Given the description of an element on the screen output the (x, y) to click on. 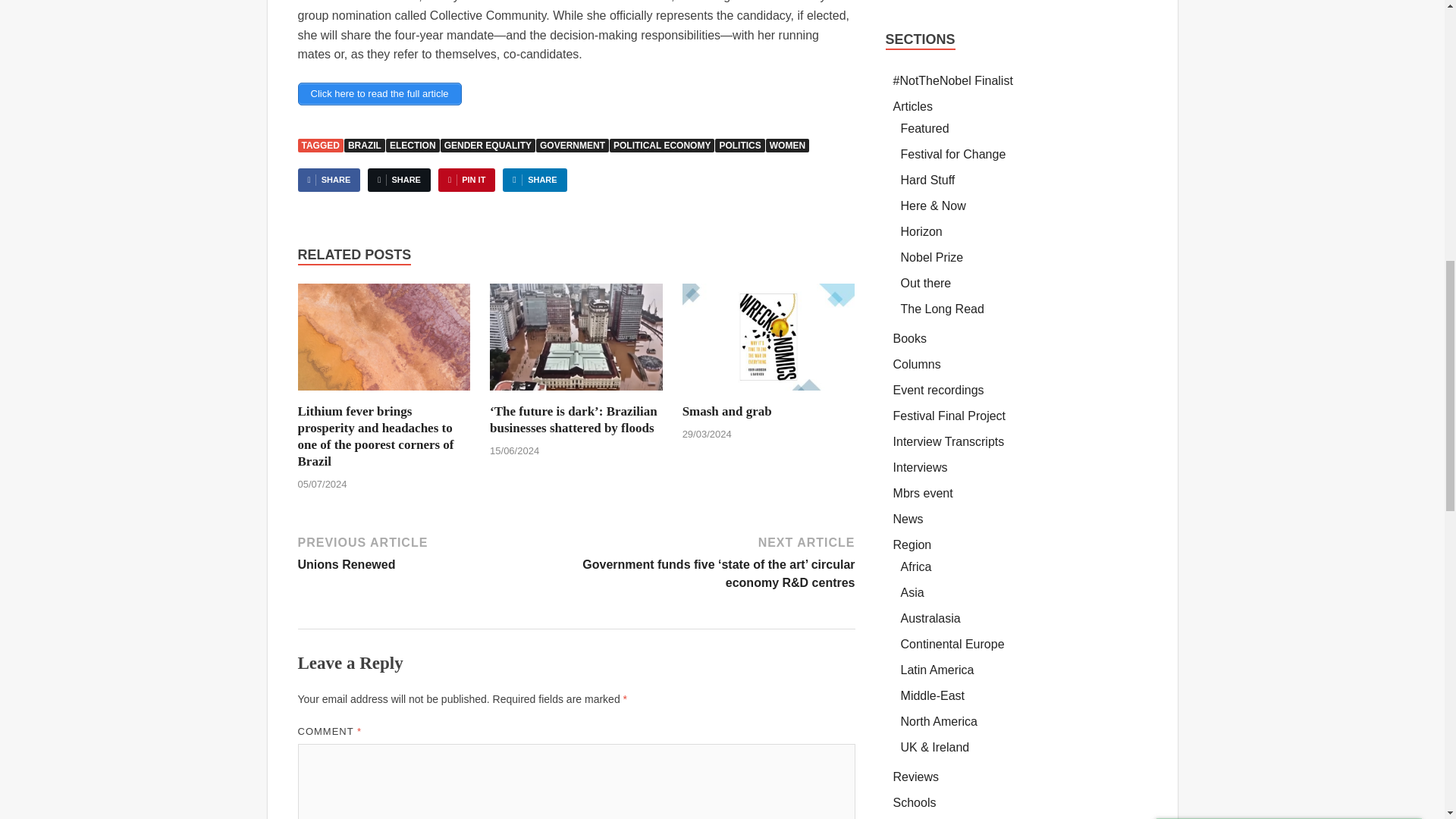
Smash and grab (769, 341)
Smash and grab (726, 411)
